Given the description of an element on the screen output the (x, y) to click on. 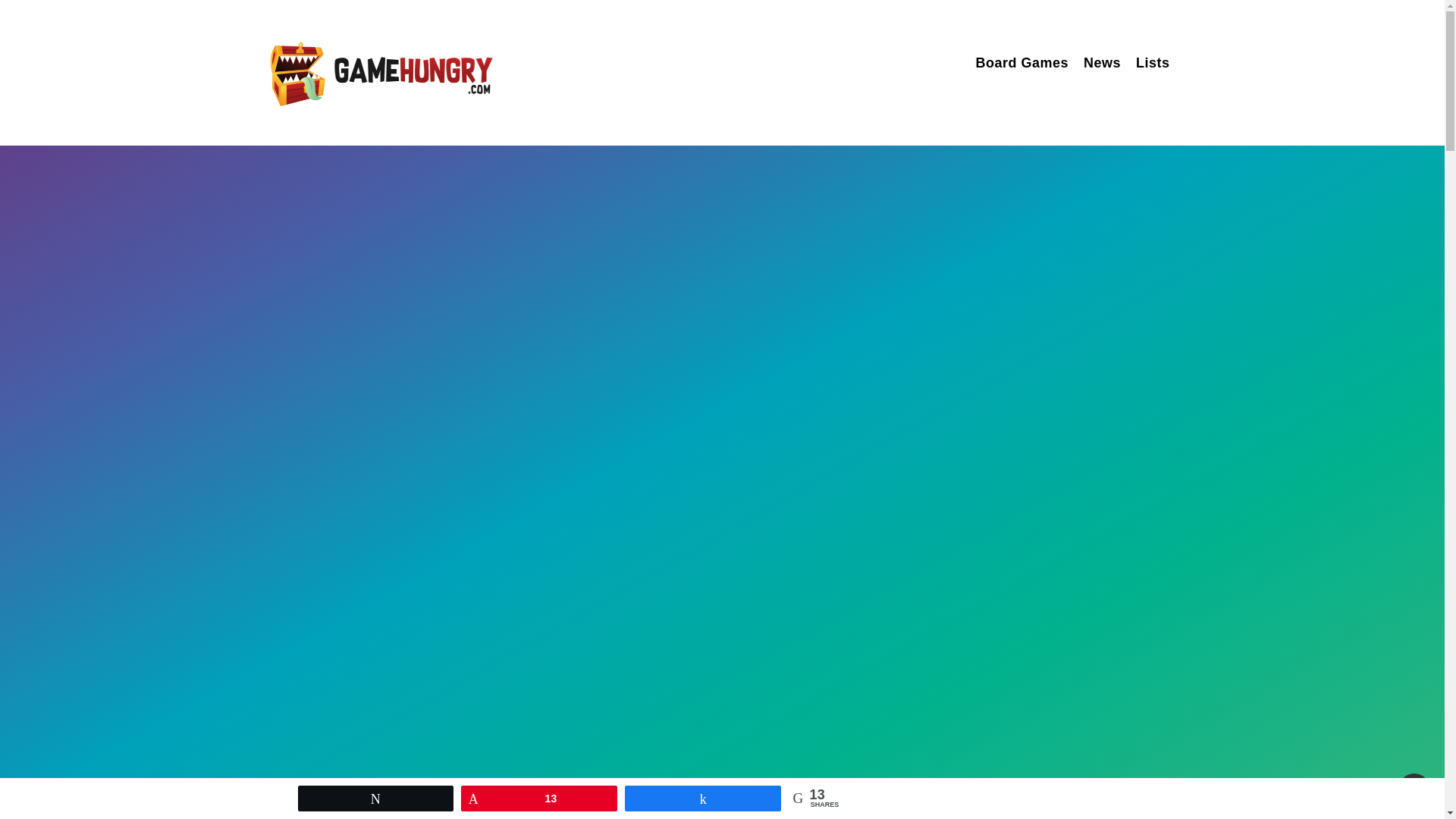
13 (538, 797)
Lists (1152, 64)
News (1102, 64)
Board Games (1021, 64)
